Given the description of an element on the screen output the (x, y) to click on. 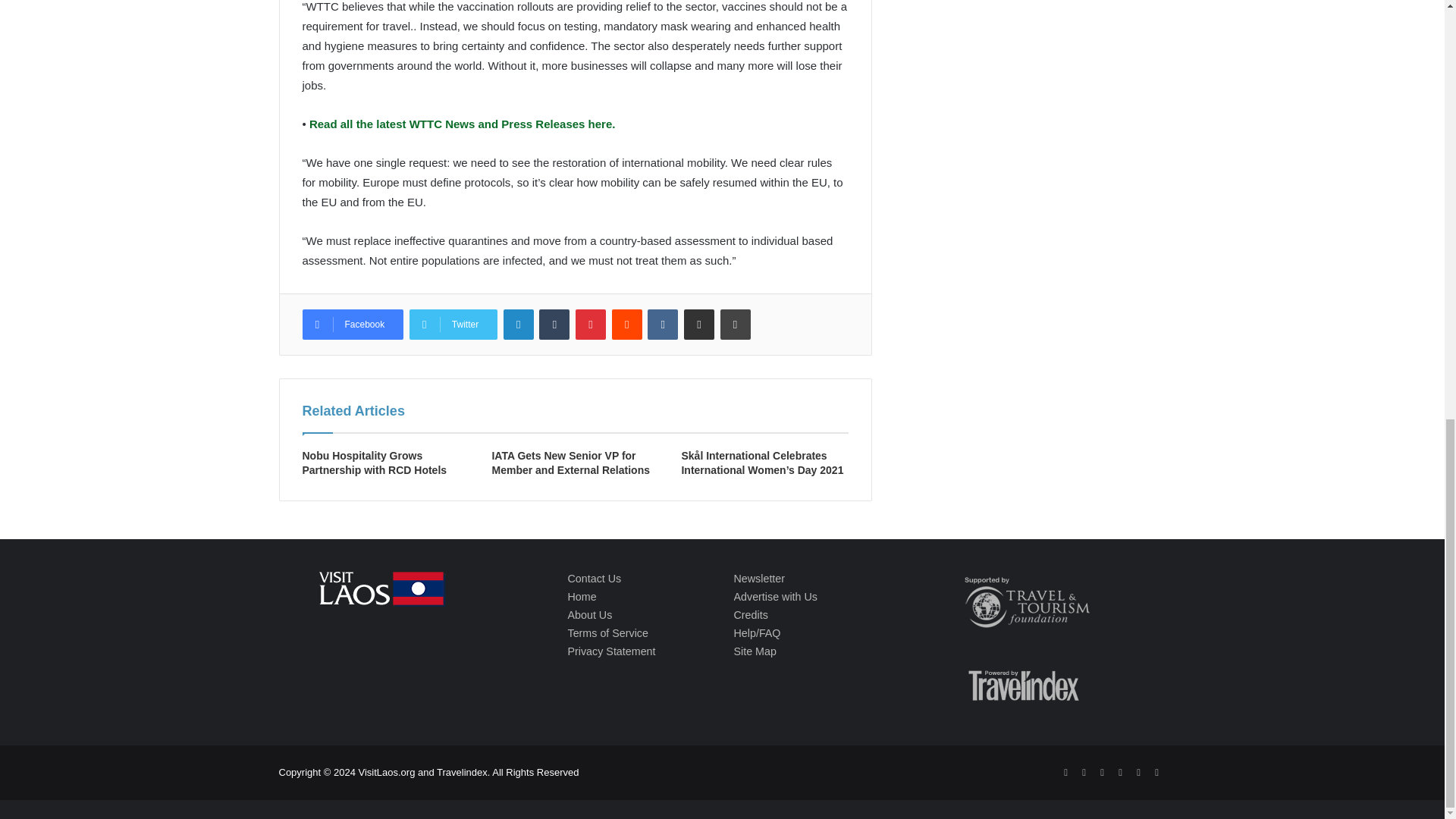
LinkedIn (518, 324)
Print (735, 324)
Twitter (453, 324)
VKontakte (662, 324)
Reddit (626, 324)
Pinterest (590, 324)
Tumblr (553, 324)
Share via Email (699, 324)
Facebook (352, 324)
